Given the description of an element on the screen output the (x, y) to click on. 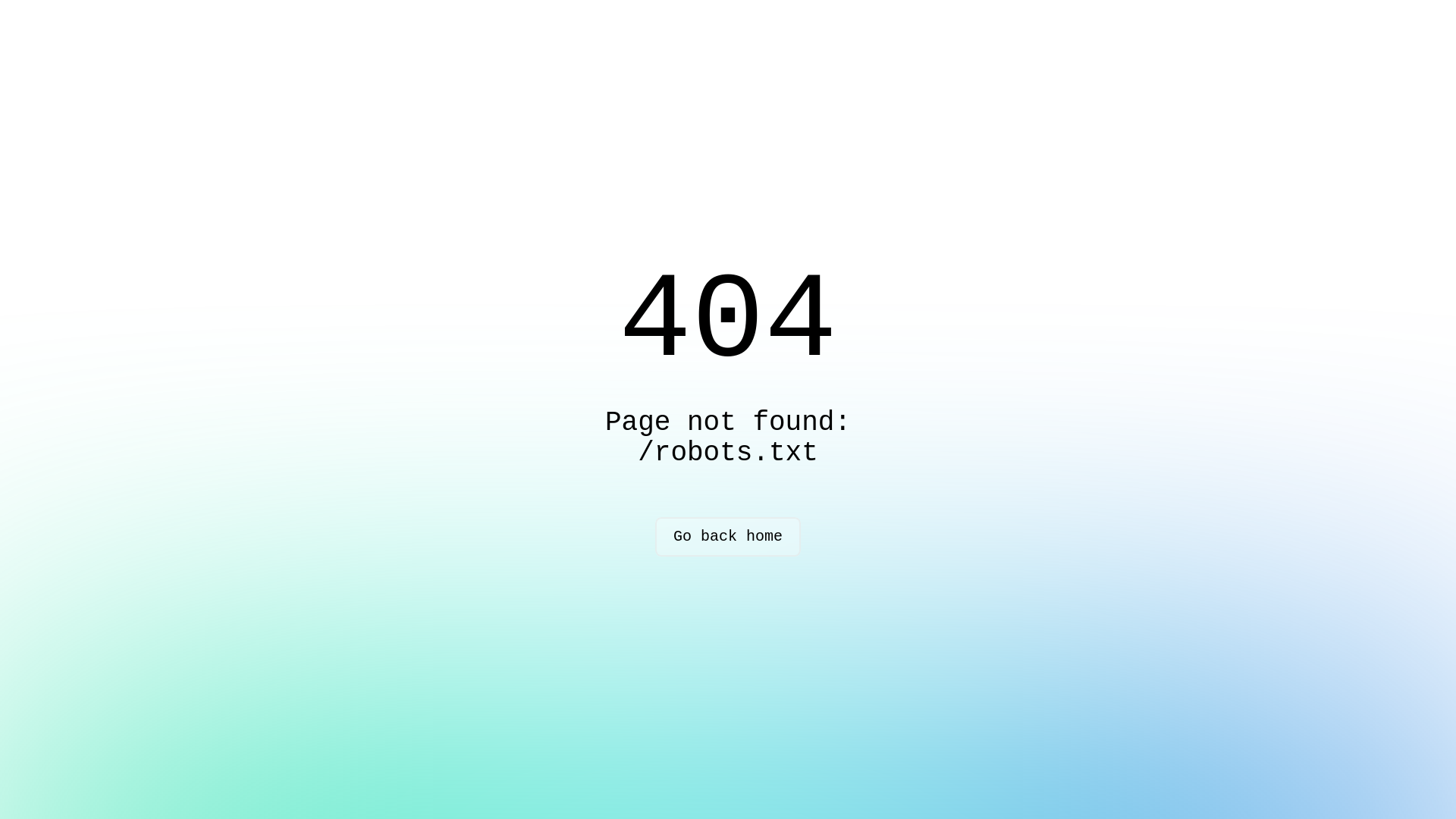
Go back home Element type: text (727, 536)
